Given the description of an element on the screen output the (x, y) to click on. 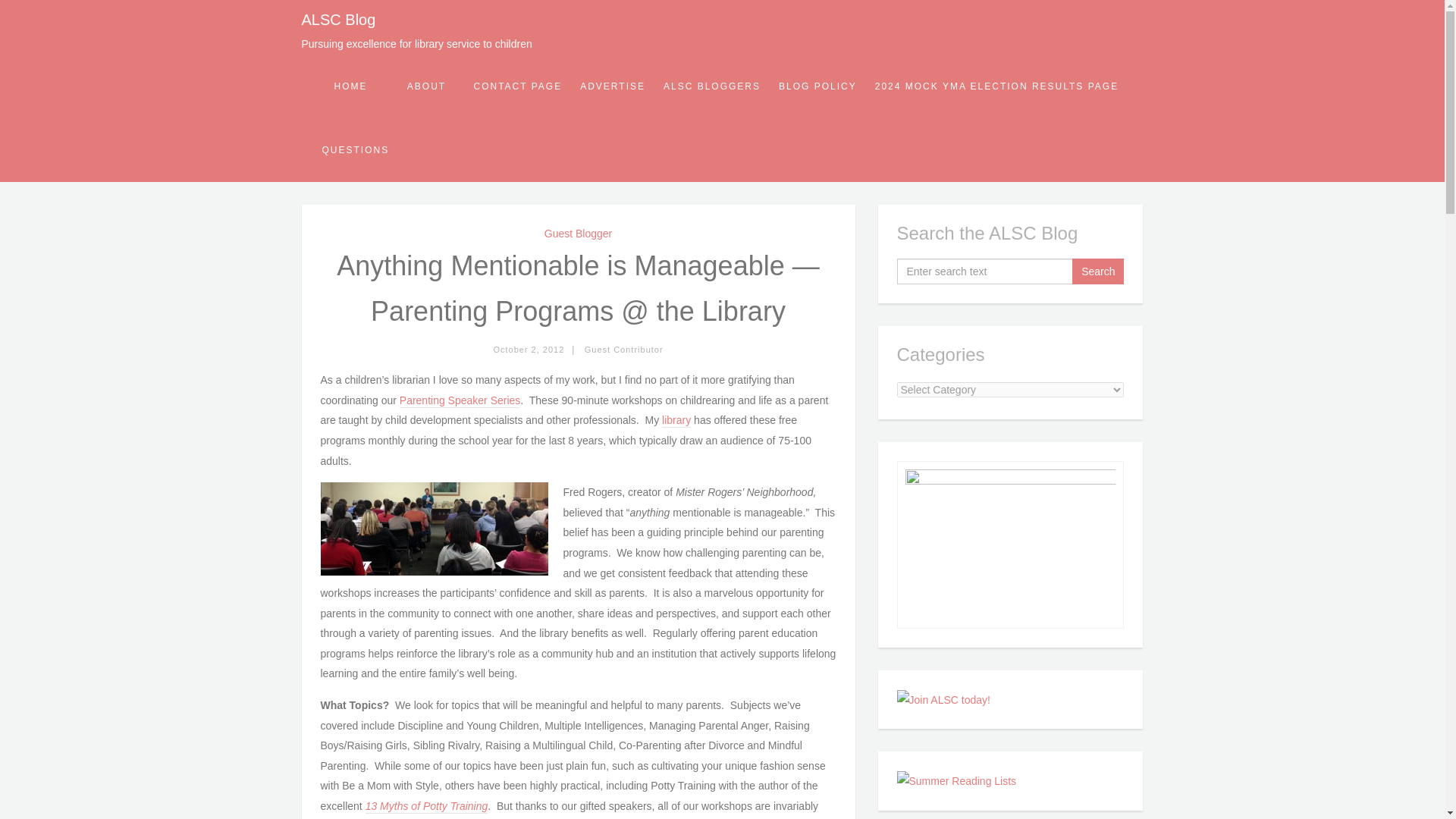
ALSC Blog (338, 19)
QUESTIONS (355, 149)
ALSC Bloggers (711, 85)
library (676, 420)
Search (1097, 271)
ALSC BLOGGERS (711, 85)
HOME (350, 85)
October 2, 2012 (528, 348)
2024 Mock YMA Election Results Page (996, 85)
Contact Page (517, 85)
